Given the description of an element on the screen output the (x, y) to click on. 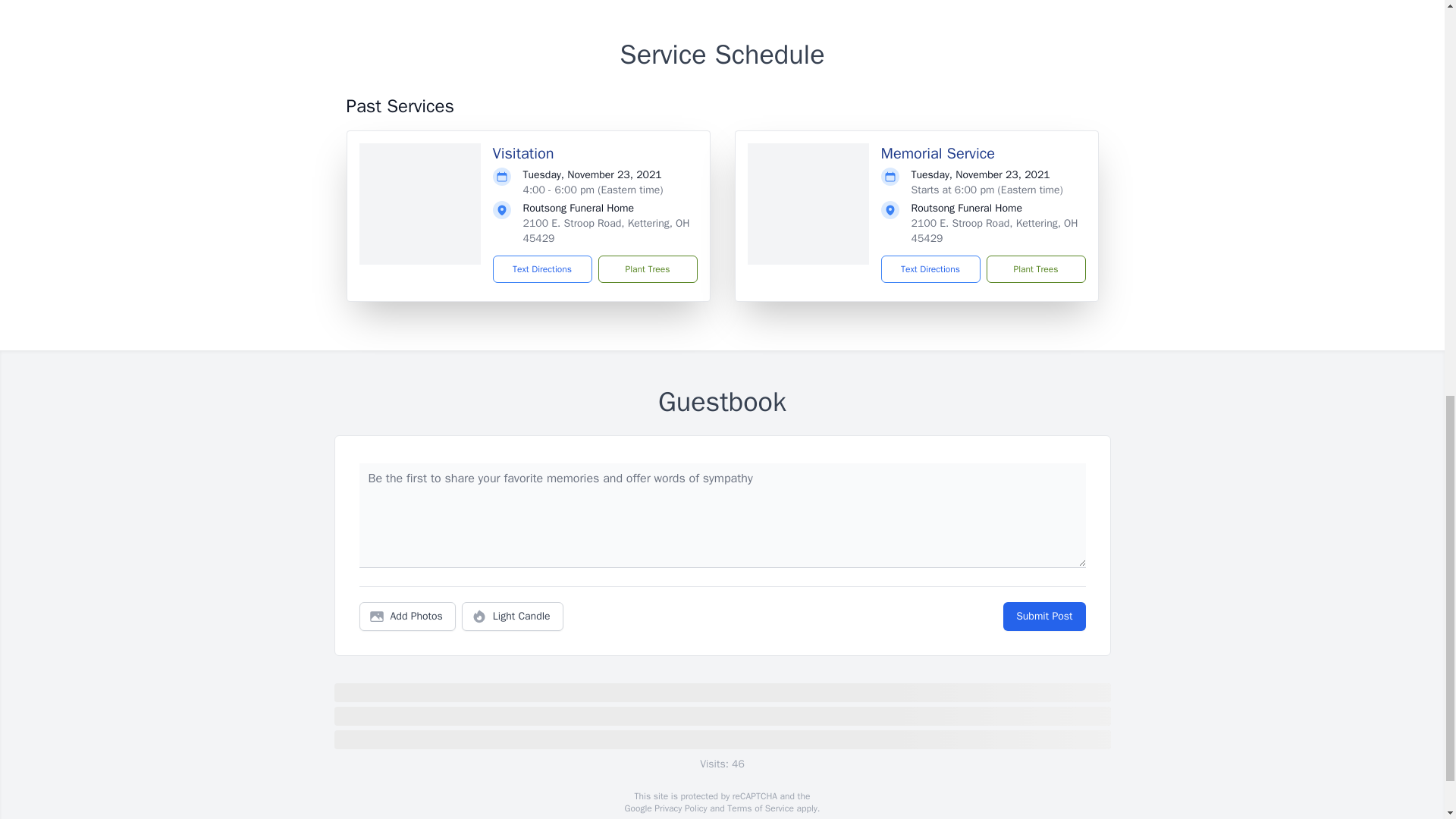
Text Directions (929, 268)
Text Directions (542, 268)
Add Photos (407, 615)
Submit Post (1043, 615)
Plant Trees (1034, 268)
2100 E. Stroop Road, Kettering, OH 45429 (606, 230)
Terms of Service (759, 808)
Privacy Policy (679, 808)
Light Candle (512, 615)
2100 E. Stroop Road, Kettering, OH 45429 (994, 230)
